Given the description of an element on the screen output the (x, y) to click on. 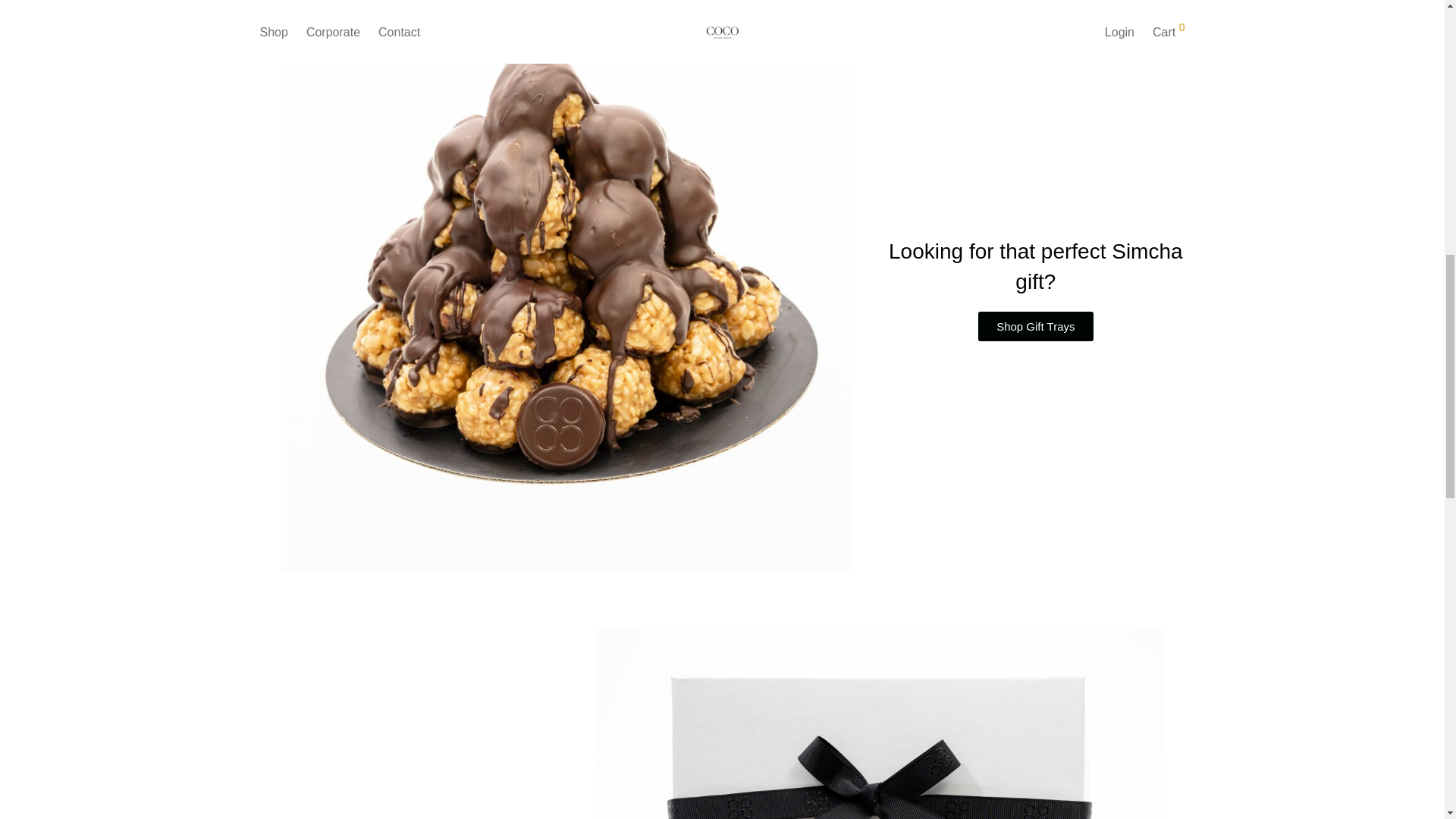
Shop Gift Trays (1035, 326)
